Given the description of an element on the screen output the (x, y) to click on. 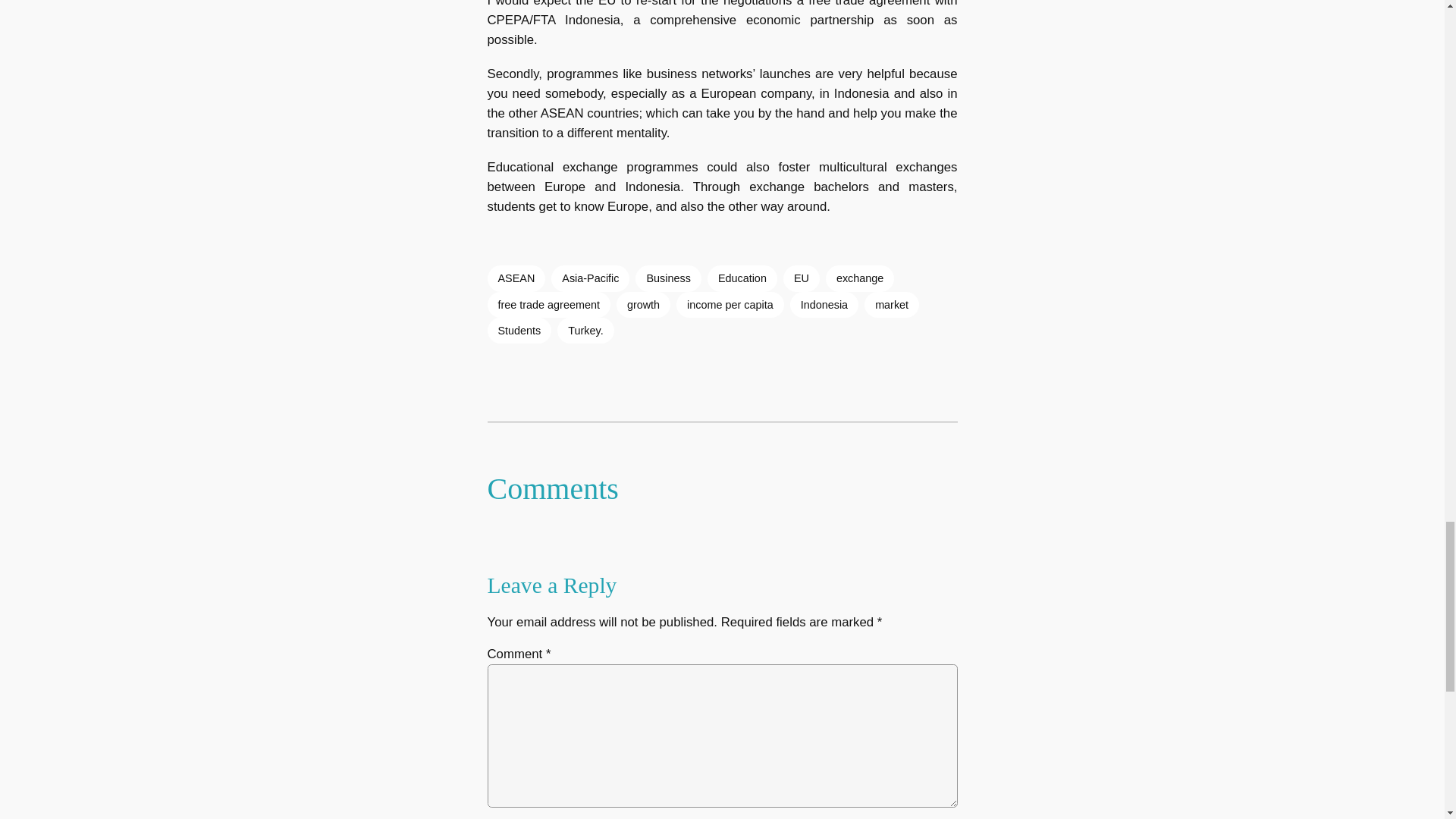
Asia-Pacific (589, 278)
ASEAN (515, 278)
market (891, 304)
Indonesia (824, 304)
Turkey. (584, 330)
growth (642, 304)
EU (801, 278)
Business (667, 278)
income per capita (730, 304)
free trade agreement (548, 304)
exchange (859, 278)
Education (742, 278)
Students (518, 330)
